Given the description of an element on the screen output the (x, y) to click on. 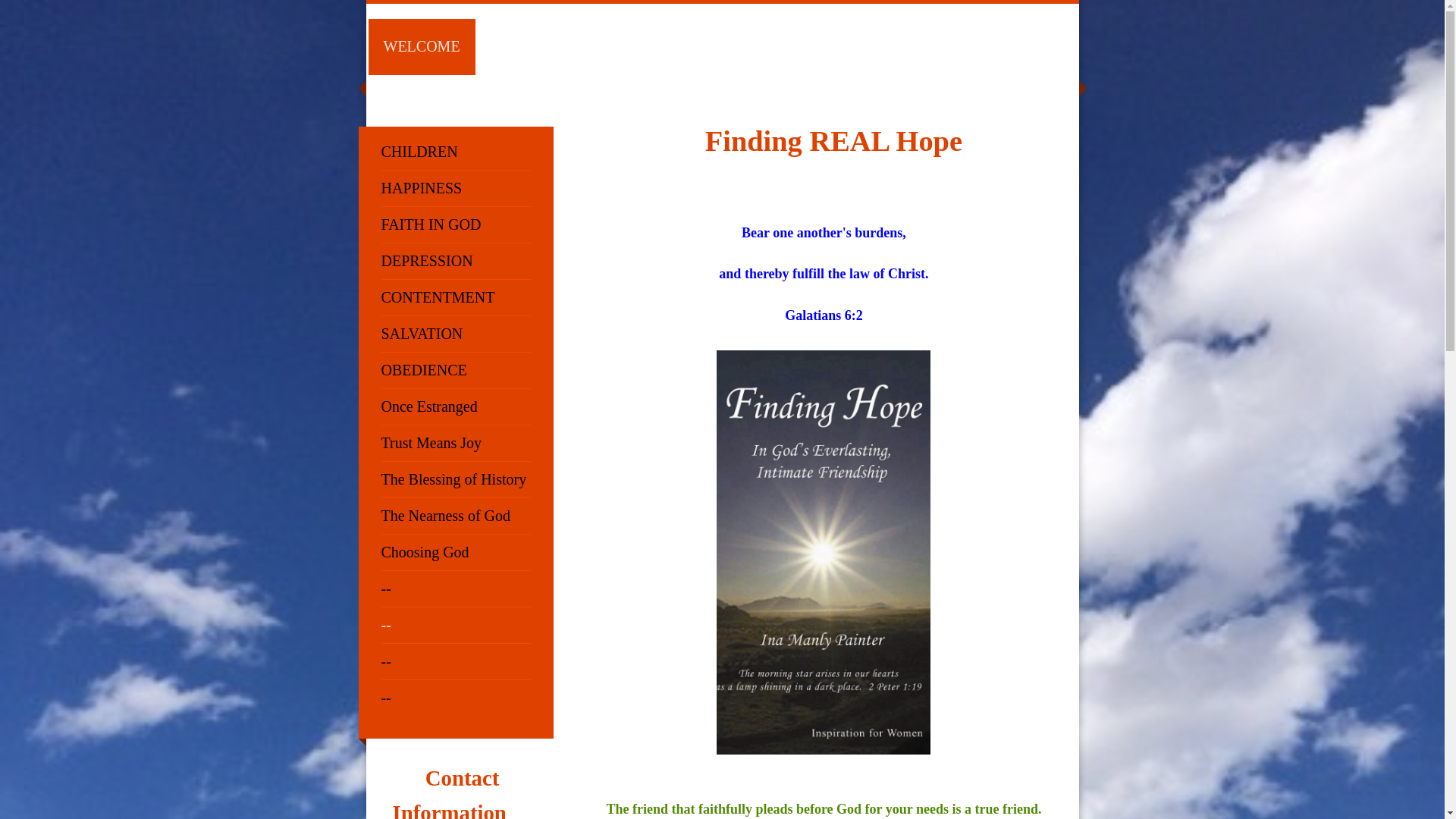
CHILDREN (455, 151)
FAITH IN GOD (455, 224)
HAPPINESS (455, 188)
WELCOME (422, 46)
